Given the description of an element on the screen output the (x, y) to click on. 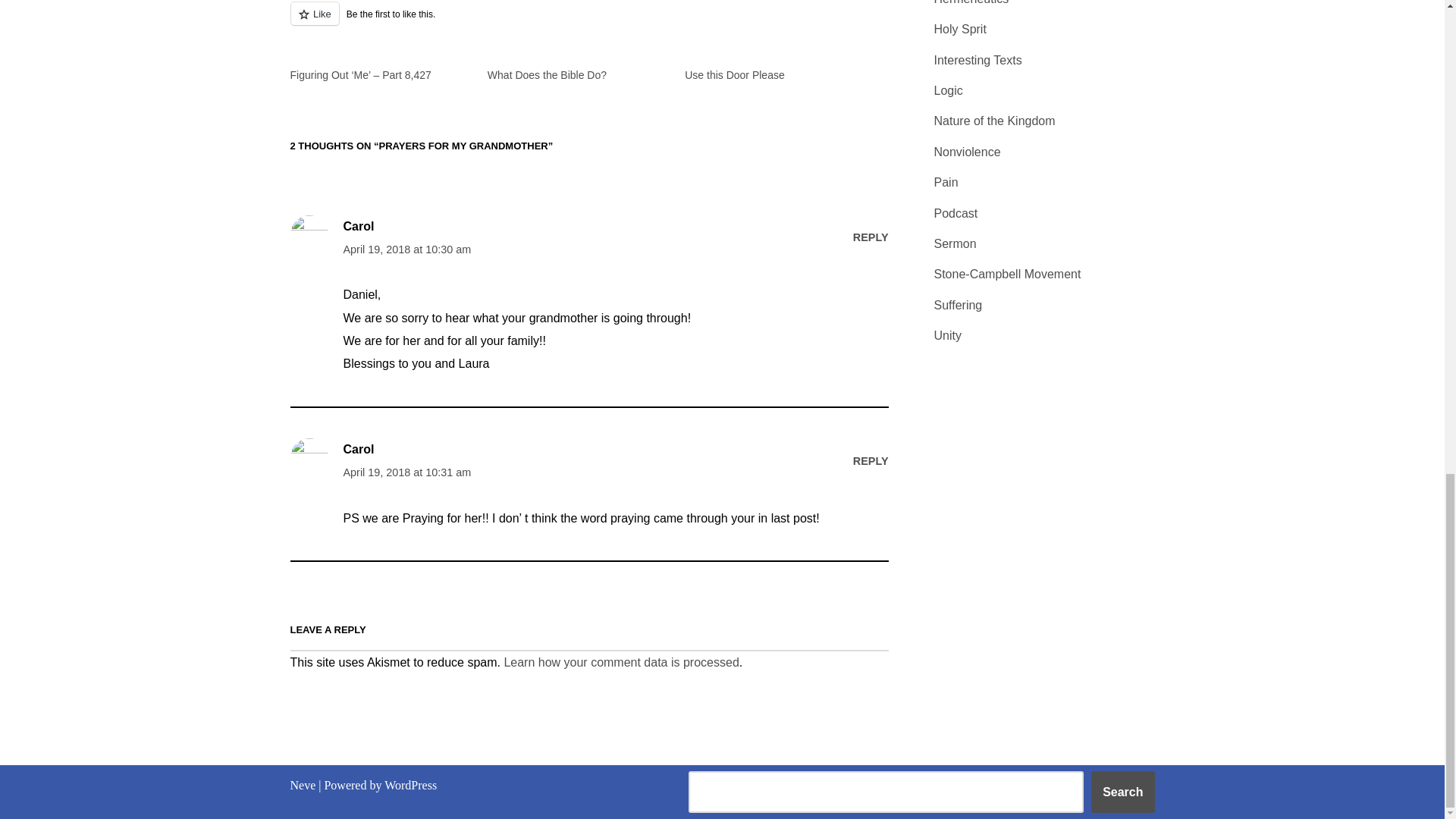
What Does the Bible Do? (547, 74)
Use this Door Please (734, 74)
Like or Reblog (588, 22)
